Given the description of an element on the screen output the (x, y) to click on. 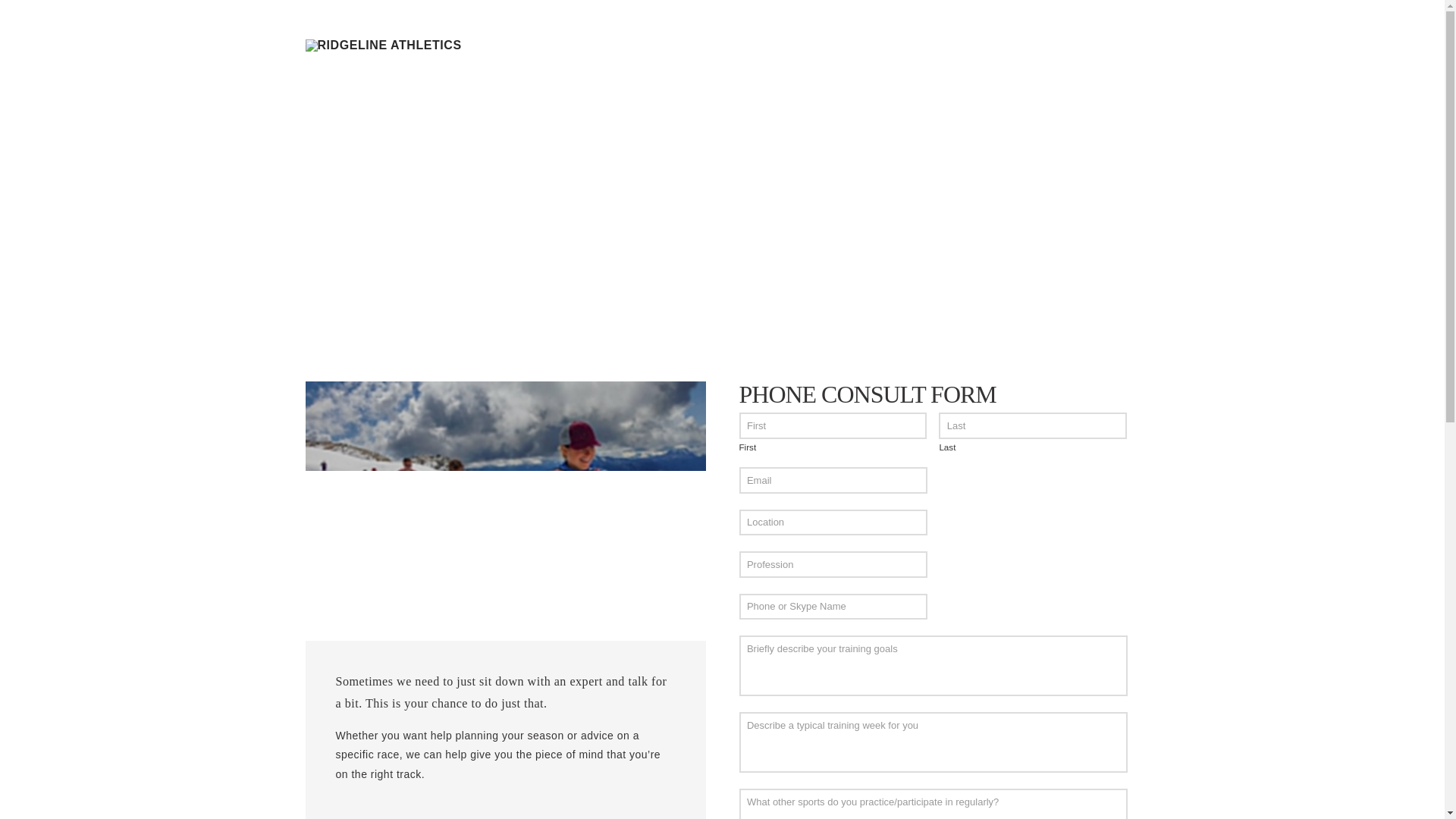
CONTACT (1082, 41)
MEET THE TEAM (796, 41)
RESOURCES (995, 41)
SERVICES (902, 41)
